Given the description of an element on the screen output the (x, y) to click on. 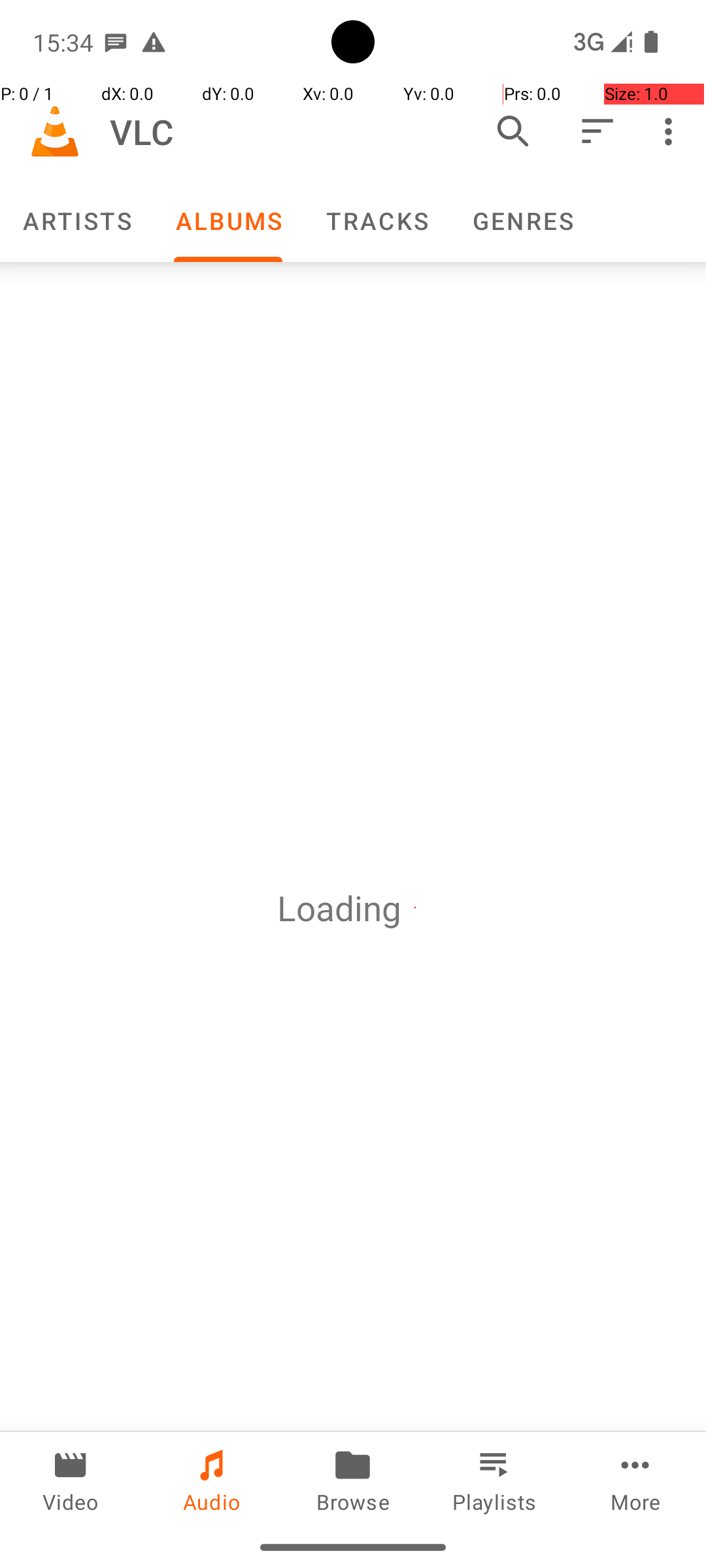
Genres Element type: android.widget.LinearLayout (521, 220)
ARTISTS Element type: android.widget.TextView (76, 220)
ALBUMS Element type: android.widget.TextView (227, 220)
TRACKS Element type: android.widget.TextView (376, 220)
GENRES Element type: android.widget.TextView (521, 220)
